Given the description of an element on the screen output the (x, y) to click on. 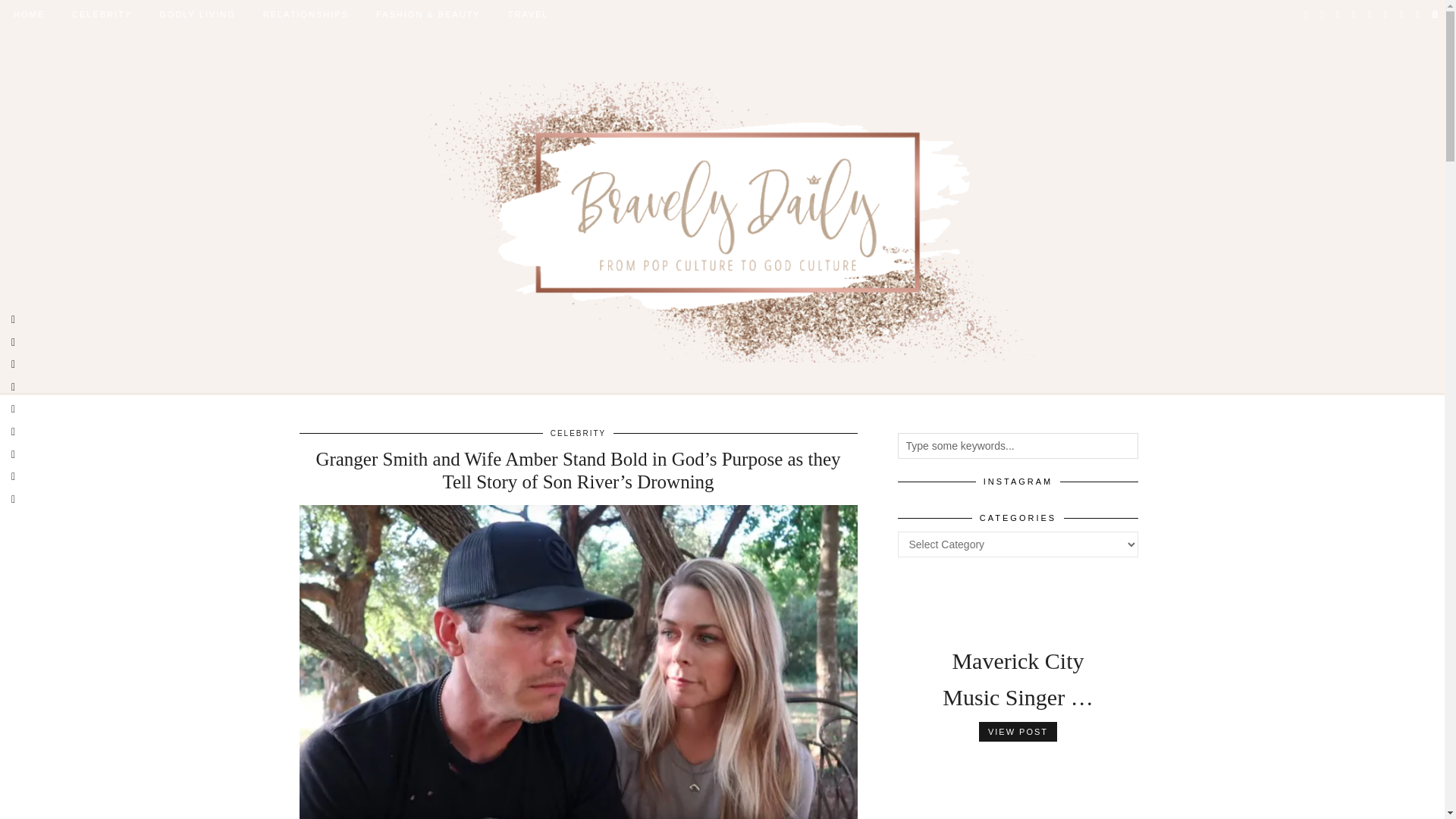
TRAVEL (528, 14)
CELEBRITY (101, 14)
HOME (29, 14)
GODLY LIVING (196, 14)
RELATIONSHIPS (305, 14)
